Given the description of an element on the screen output the (x, y) to click on. 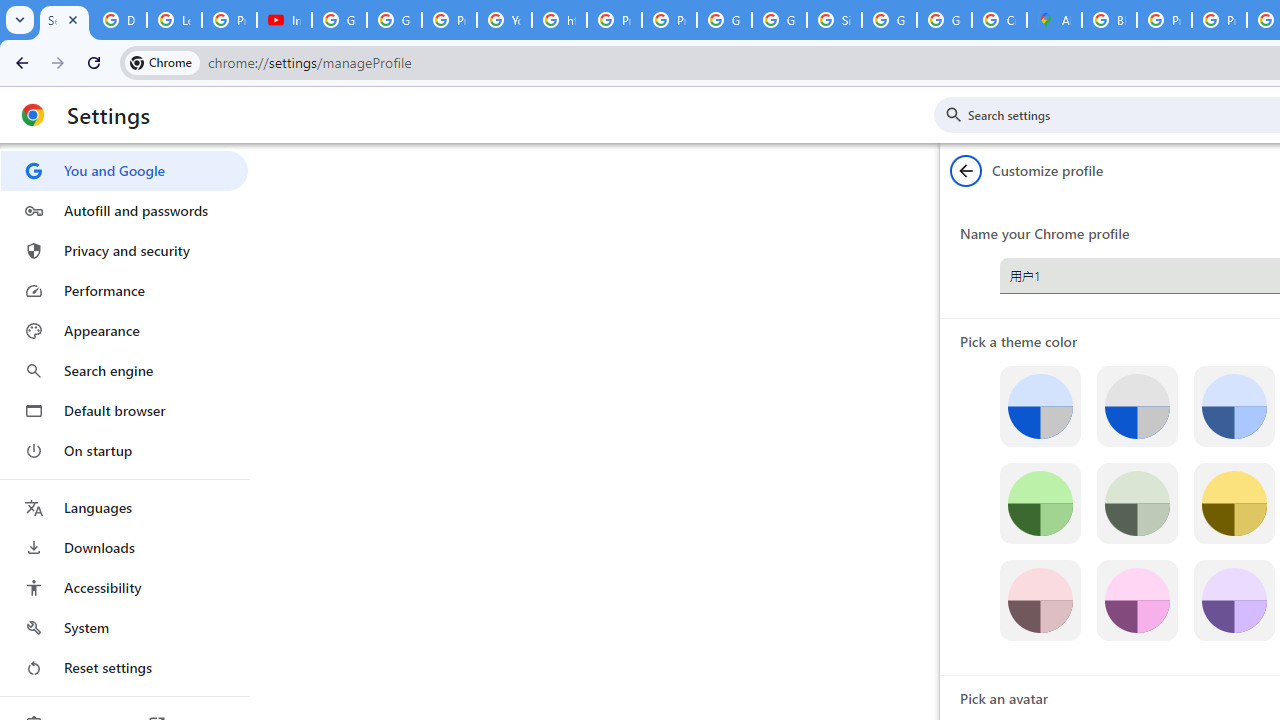
Blogger Policies and Guidelines - Transparency Center (1108, 20)
Learn how to find your photos - Google Photos Help (174, 20)
Privacy Help Center - Policies Help (614, 20)
Google Account Help (394, 20)
Autofill and passwords (124, 210)
